Given the description of an element on the screen output the (x, y) to click on. 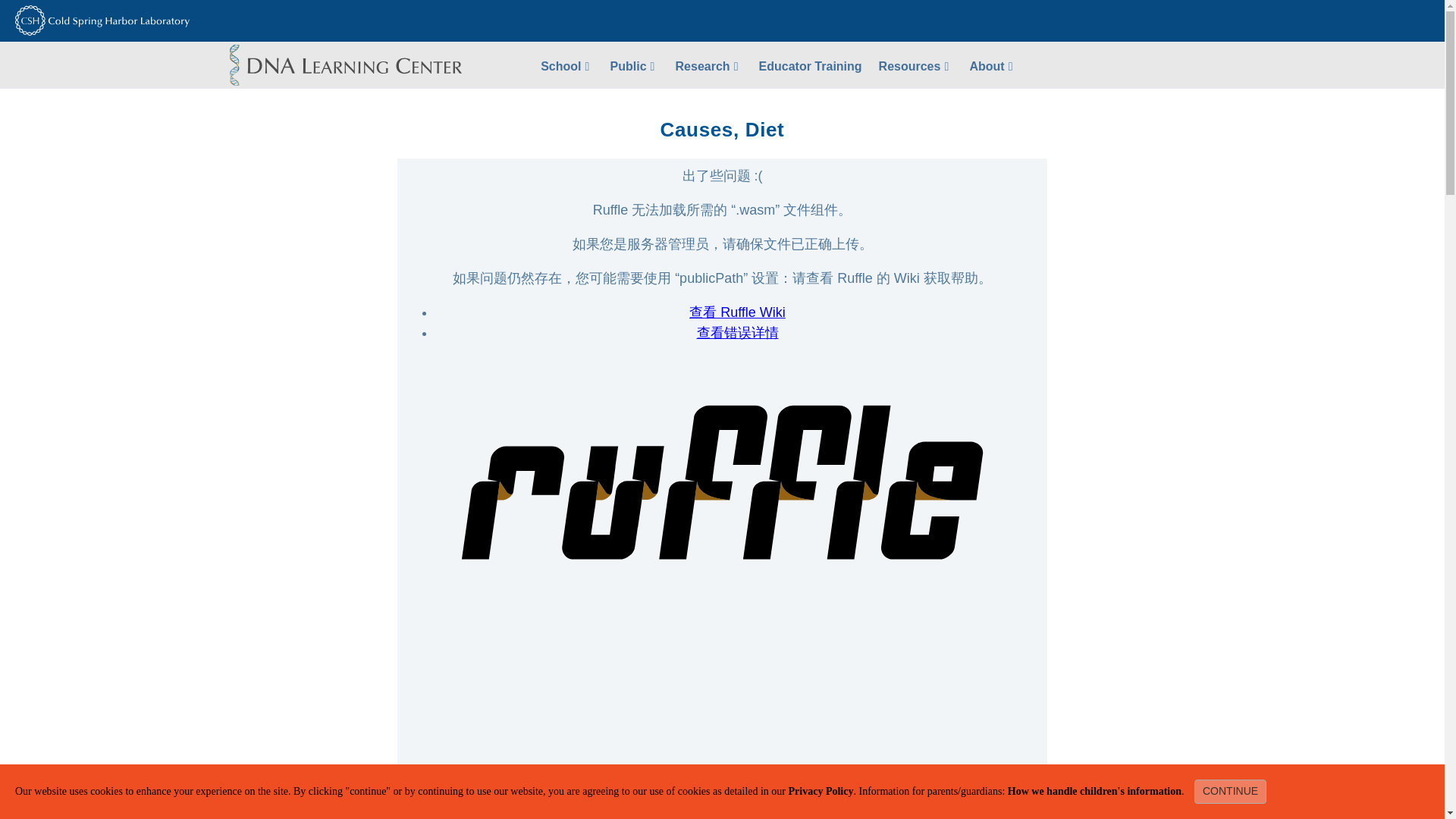
School (566, 65)
Research (708, 65)
Resources (915, 65)
Public (634, 65)
Educator Training (810, 65)
About (992, 65)
